Given the description of an element on the screen output the (x, y) to click on. 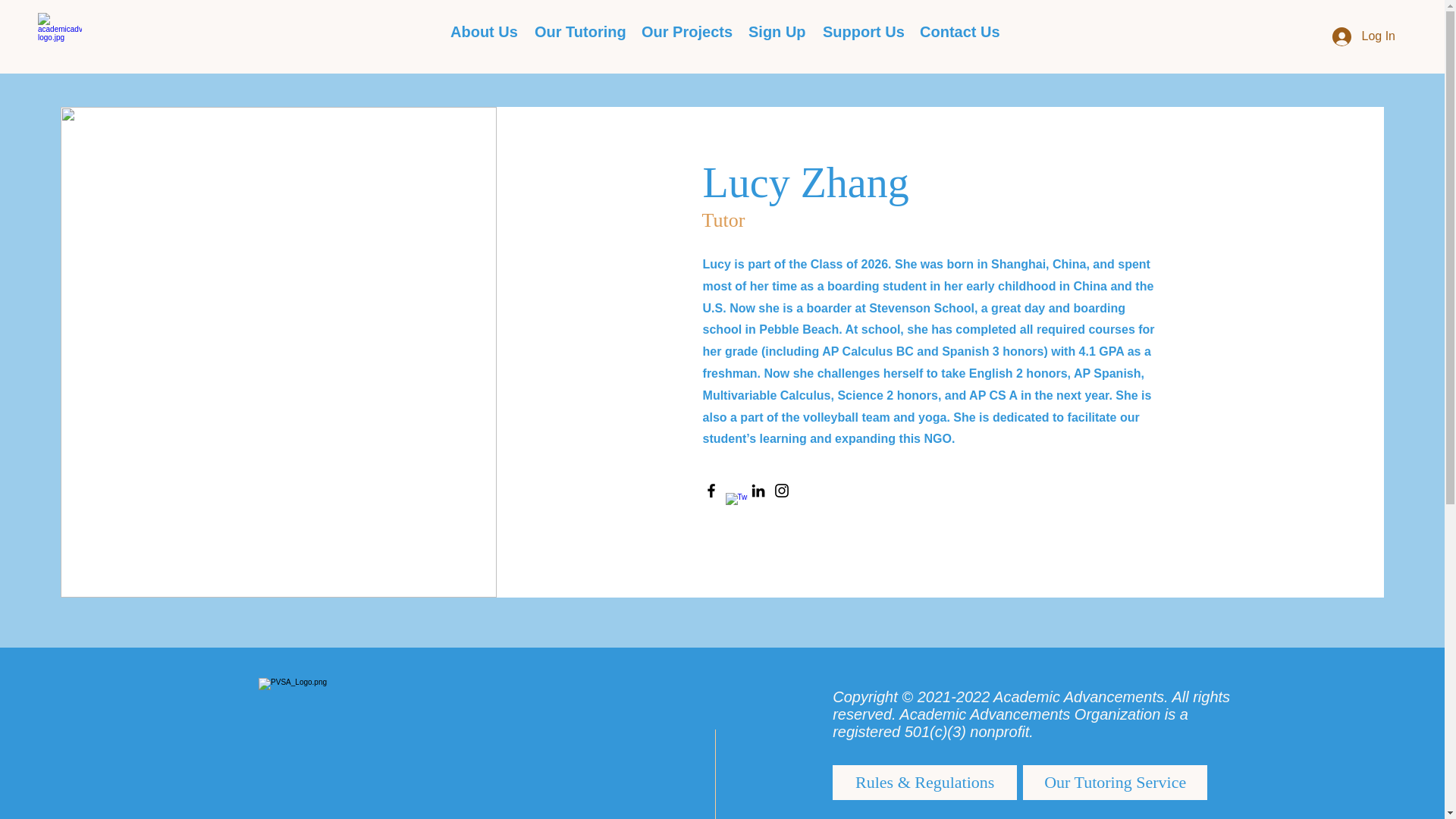
Our Tutoring (576, 31)
Support Us (859, 31)
Contact Us (957, 31)
Our Tutoring Service (1115, 782)
About Us (480, 31)
Sign Up (773, 31)
Log In (1364, 36)
Our Projects (683, 31)
